Given the description of an element on the screen output the (x, y) to click on. 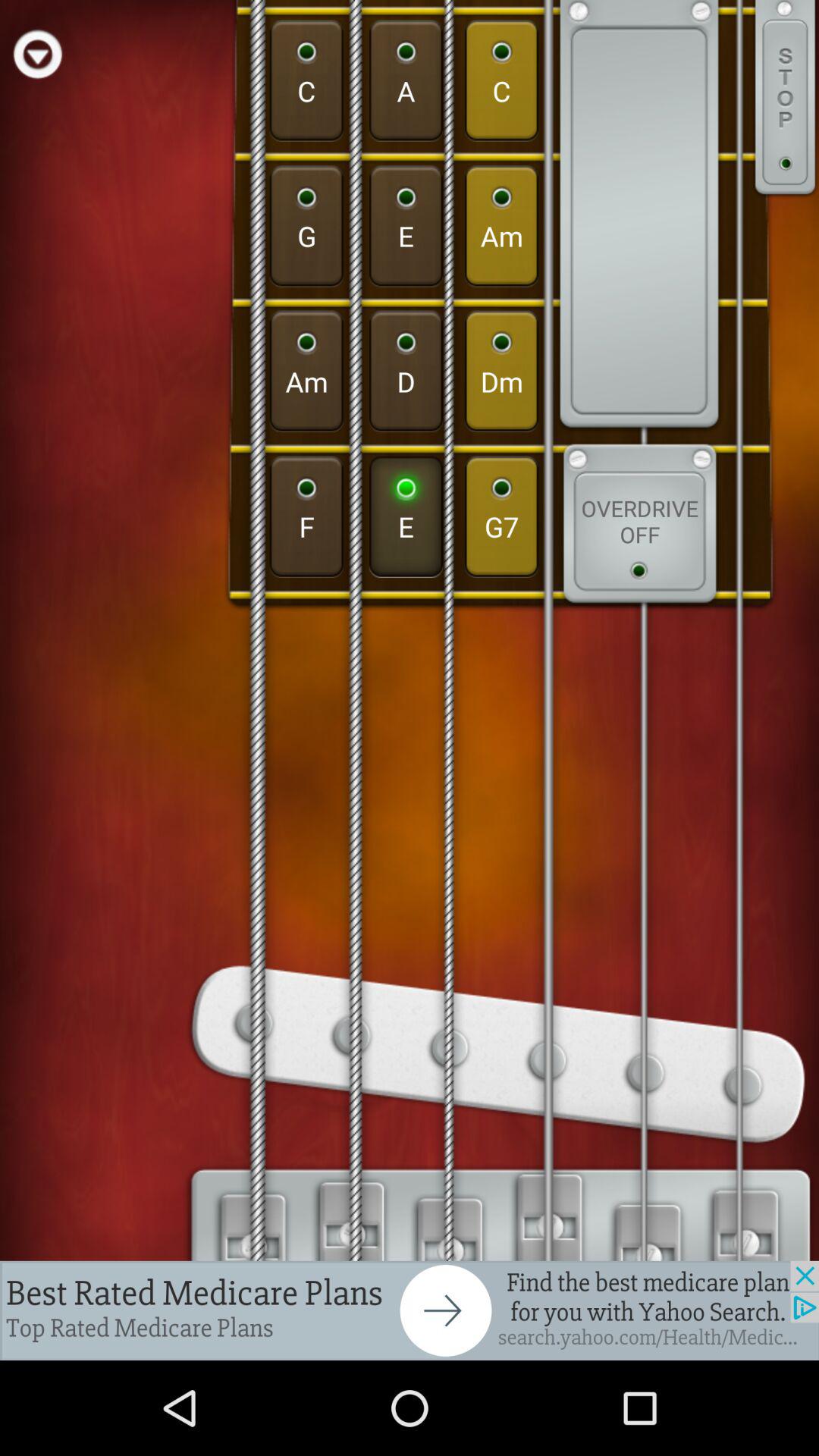
go to play (37, 53)
